Given the description of an element on the screen output the (x, y) to click on. 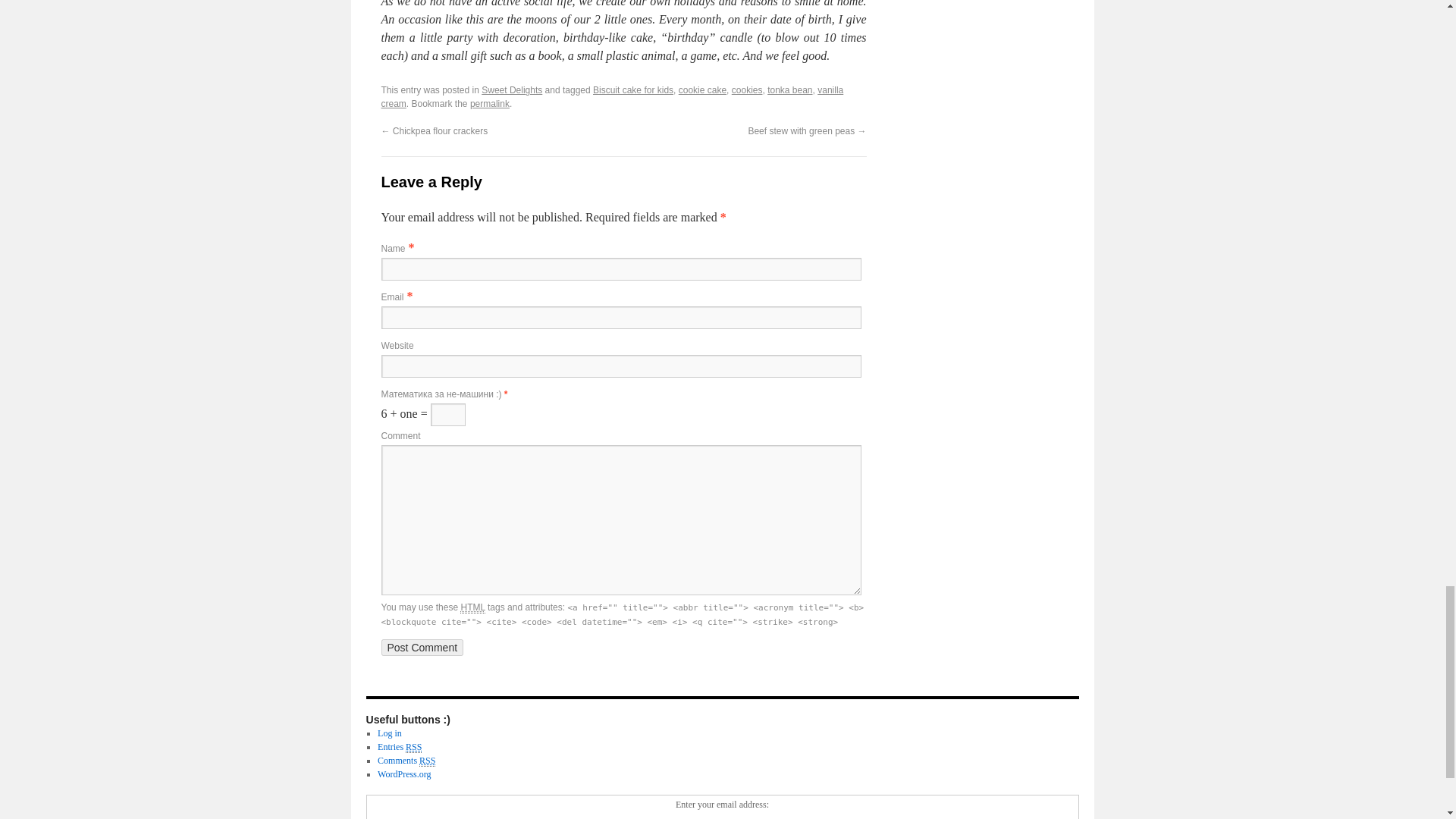
Post Comment (421, 647)
Permalink to Biscuit cake for kids (489, 103)
View all posts in Sweet Delights (511, 90)
HyperText Markup Language (472, 607)
